Given the description of an element on the screen output the (x, y) to click on. 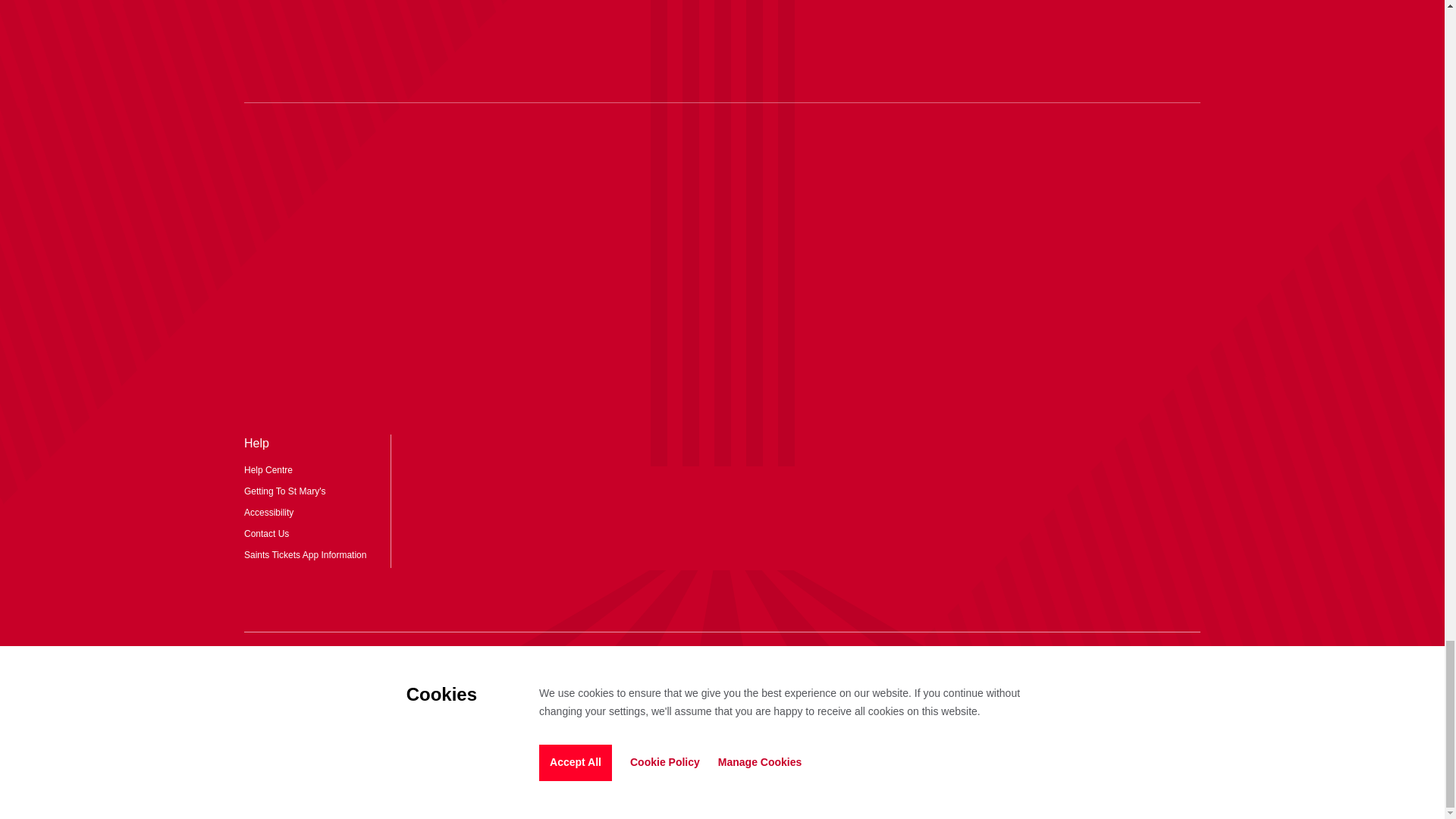
facebook (813, 665)
tiktok (676, 665)
instagram (631, 665)
youtube (767, 665)
twitter (721, 665)
